Given the description of an element on the screen output the (x, y) to click on. 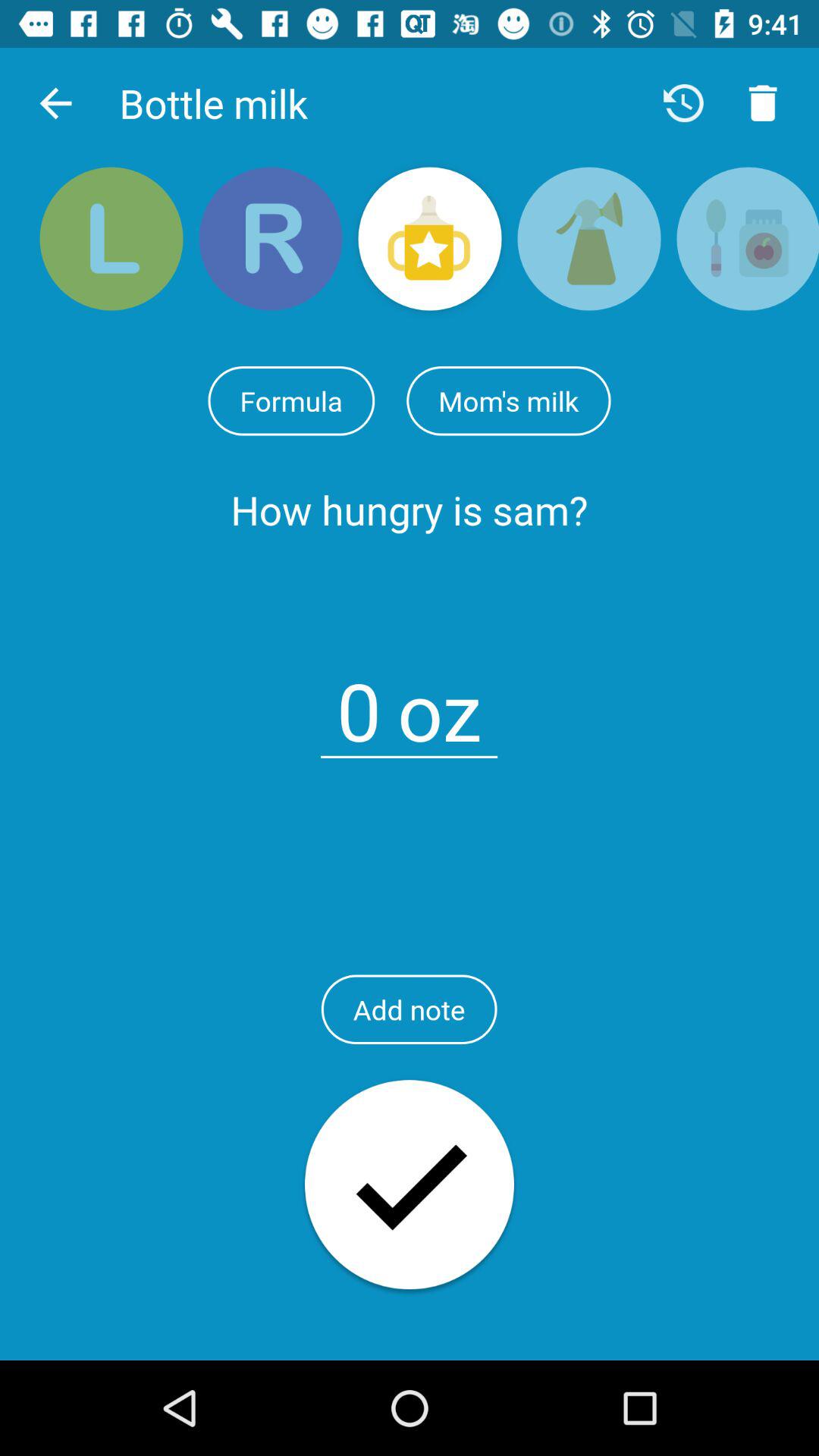
launch the app next to bottle milk (55, 103)
